Given the description of an element on the screen output the (x, y) to click on. 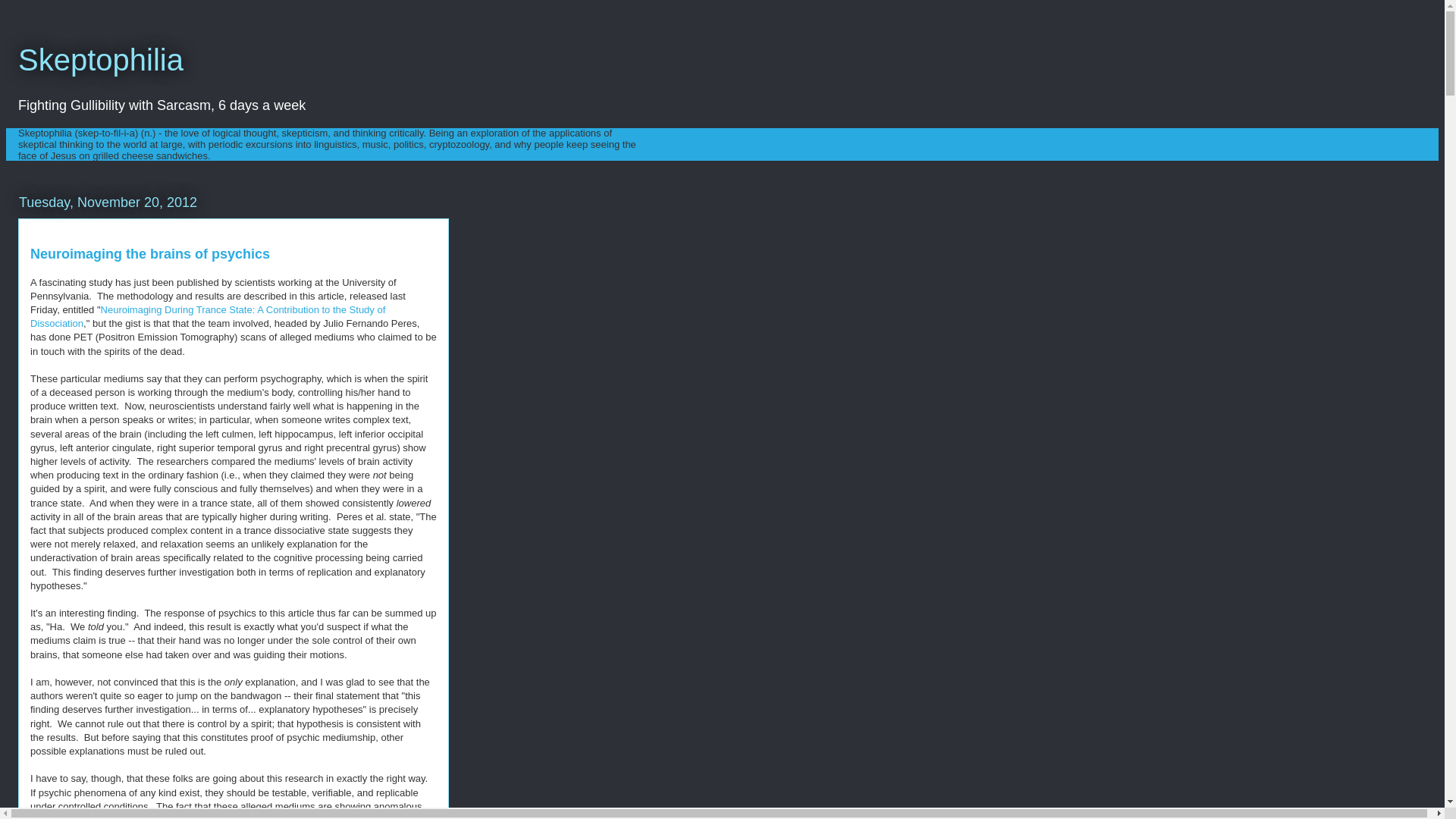
Skeptophilia (100, 59)
